Given the description of an element on the screen output the (x, y) to click on. 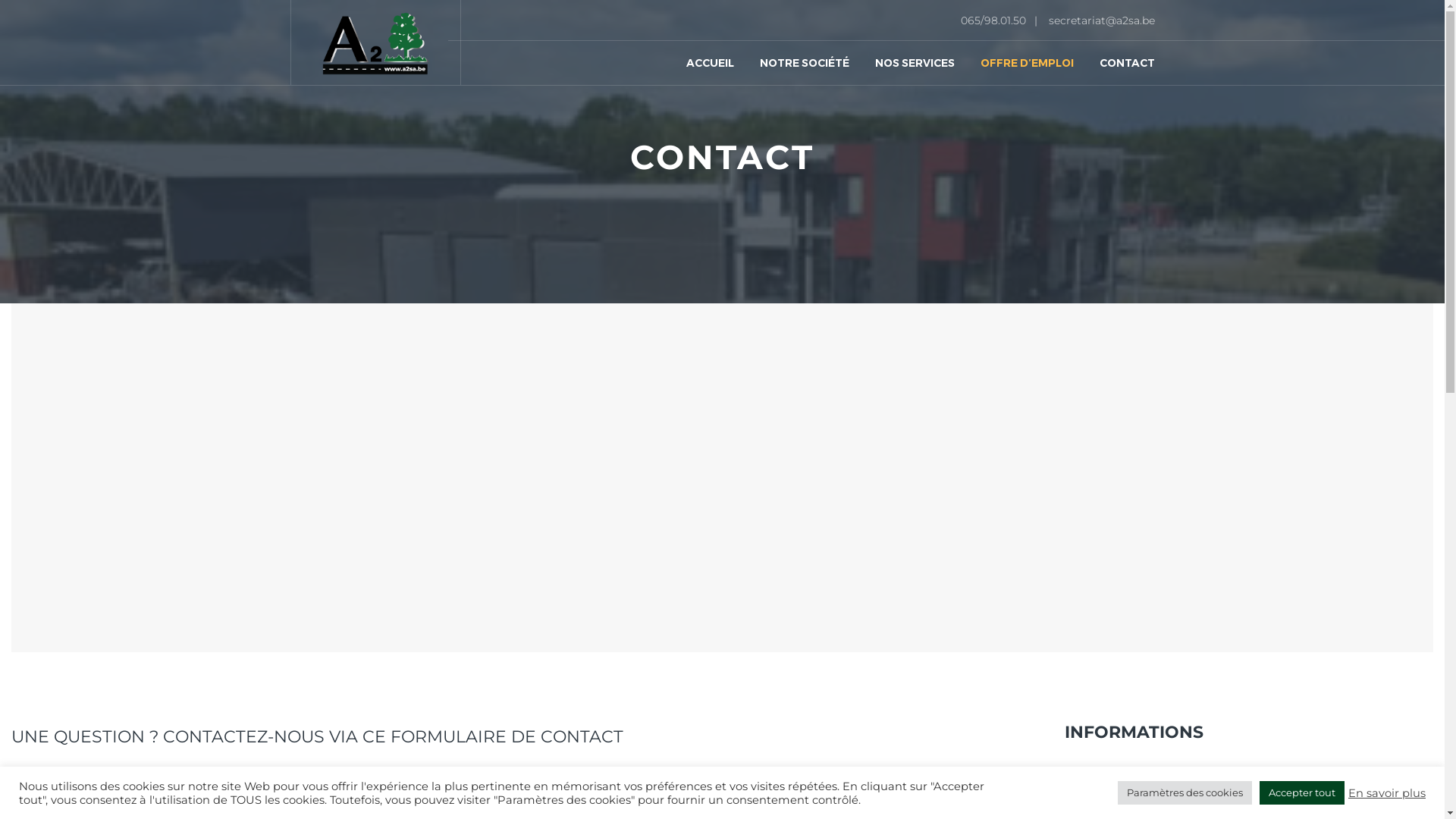
CONTACT Element type: text (1120, 42)
NOS SERVICES Element type: text (913, 42)
Accepter tout Element type: text (1301, 792)
ACCUEIL Element type: text (709, 42)
En savoir plus Element type: text (1386, 792)
